Given the description of an element on the screen output the (x, y) to click on. 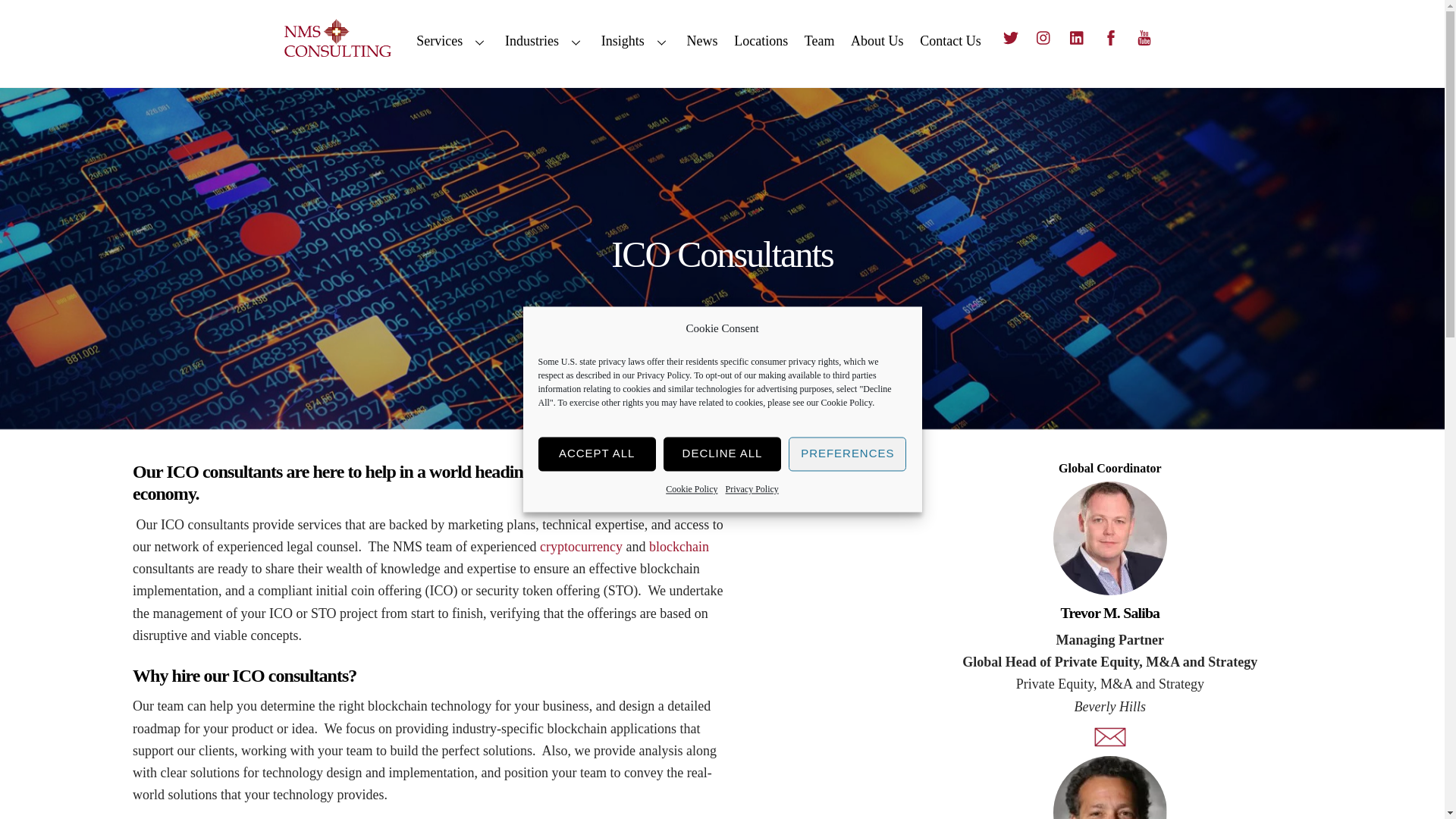
Industries (544, 41)
Privacy Policy (663, 376)
DECLINE ALL (721, 453)
Privacy Policy (751, 489)
Cookie Policy (691, 489)
Services (451, 41)
ACCEPT ALL (597, 453)
email (1109, 736)
Marc Strauch (1109, 787)
